Given the description of an element on the screen output the (x, y) to click on. 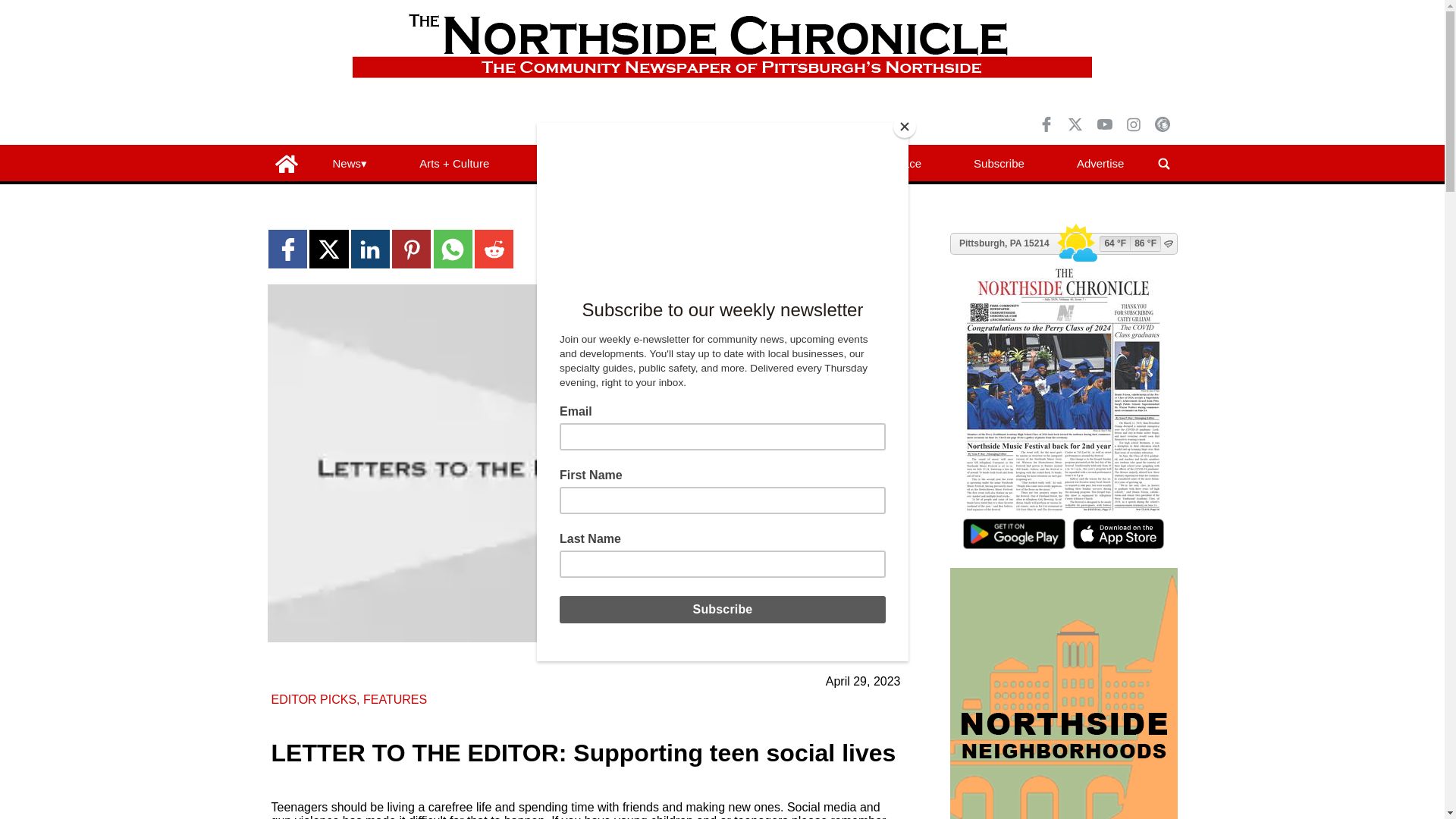
Weather Widget (1062, 242)
Real Estate (670, 163)
Moments (564, 163)
Classifieds (778, 163)
News (349, 164)
